Given the description of an element on the screen output the (x, y) to click on. 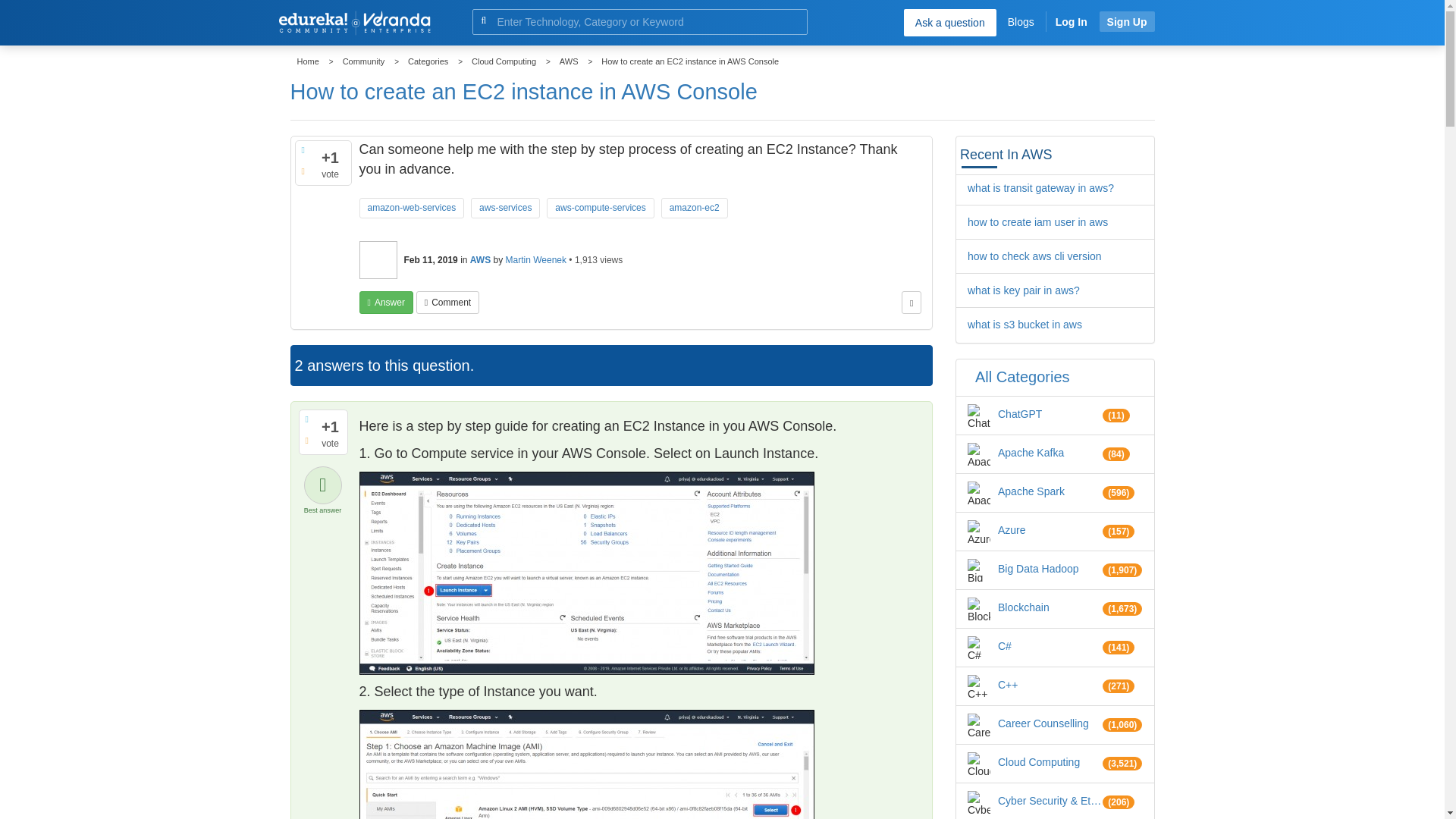
Blogs (1020, 21)
Answer this question (386, 302)
Ask a question (949, 22)
Add a comment on this question (447, 302)
